Given the description of an element on the screen output the (x, y) to click on. 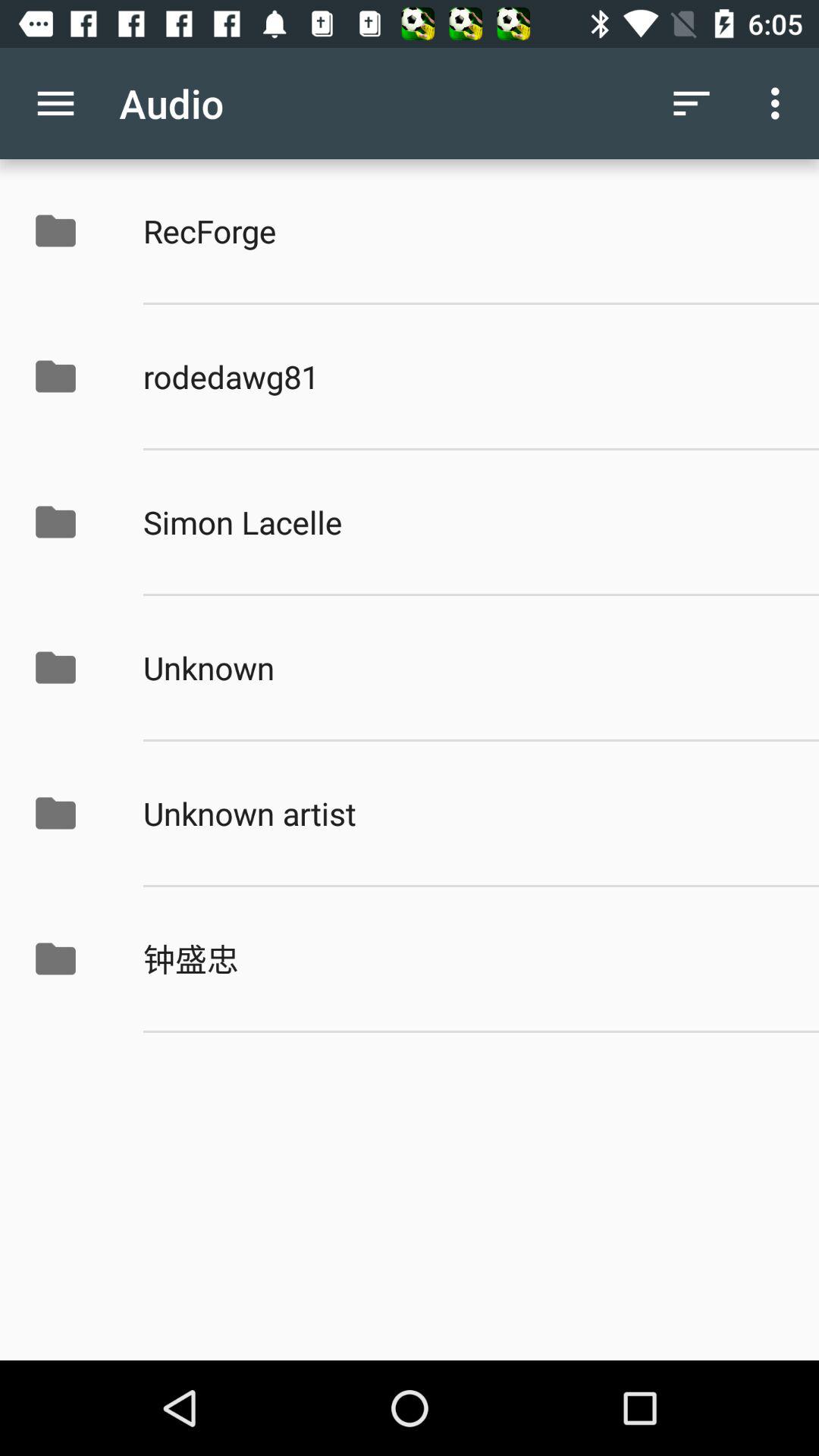
launch item next to the audio icon (55, 103)
